Given the description of an element on the screen output the (x, y) to click on. 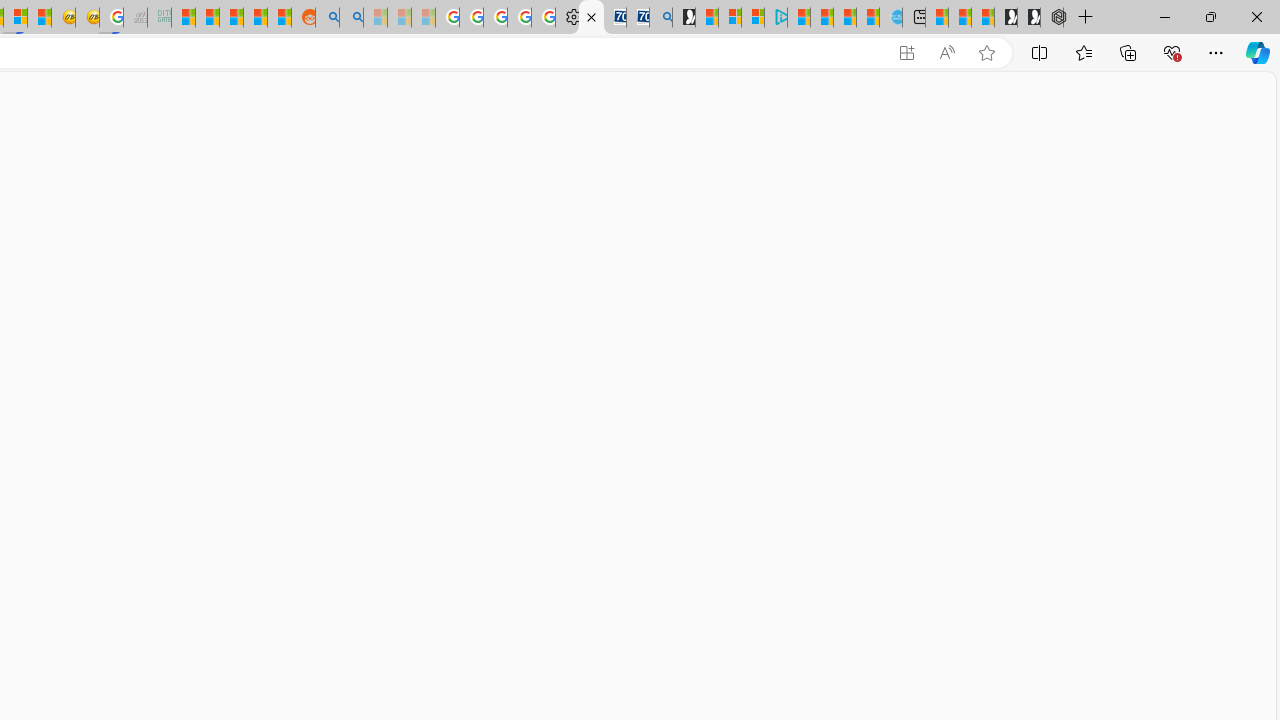
Utah sues federal government - Search (351, 17)
